Given the description of an element on the screen output the (x, y) to click on. 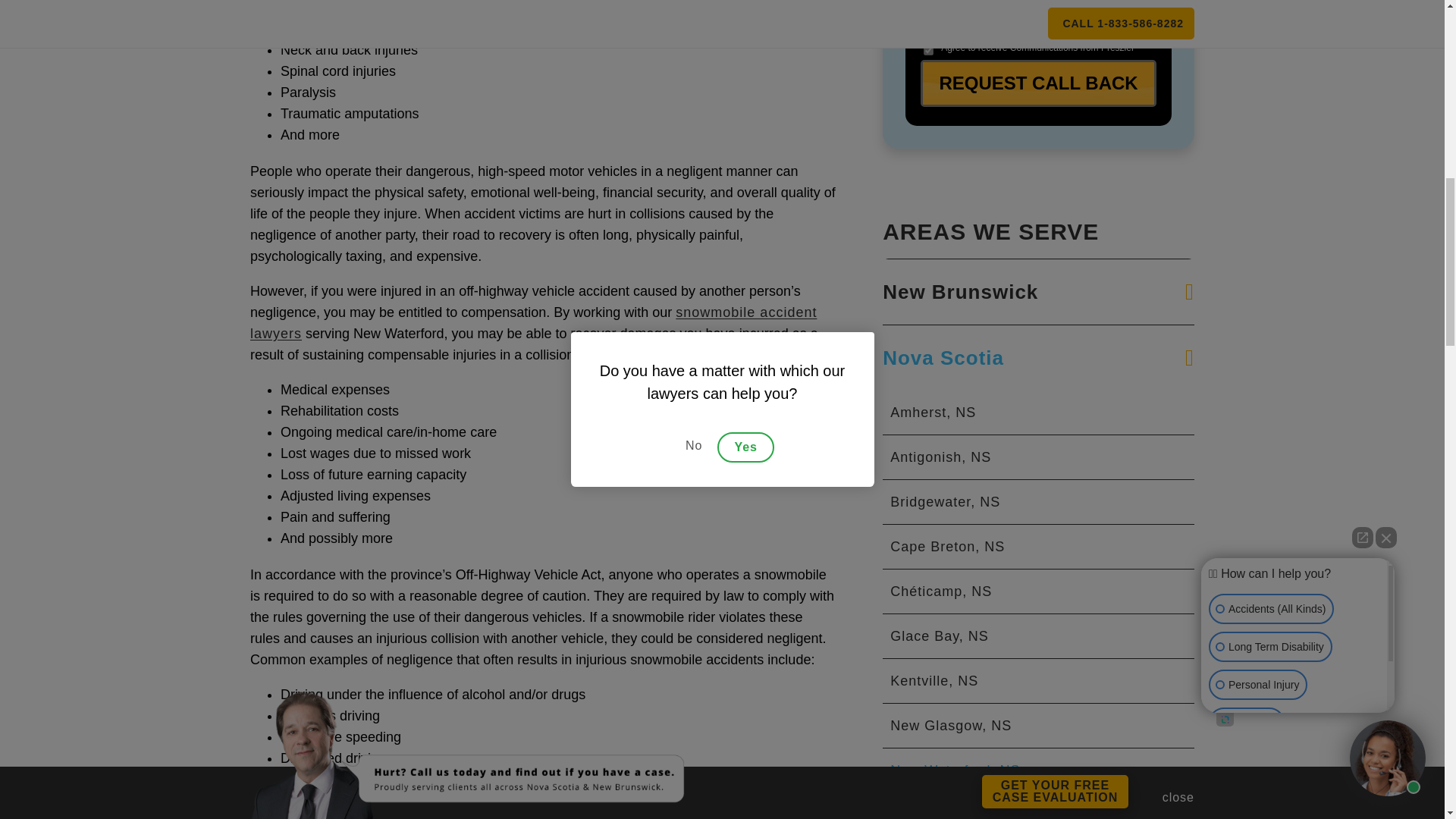
1 (928, 50)
